Given the description of an element on the screen output the (x, y) to click on. 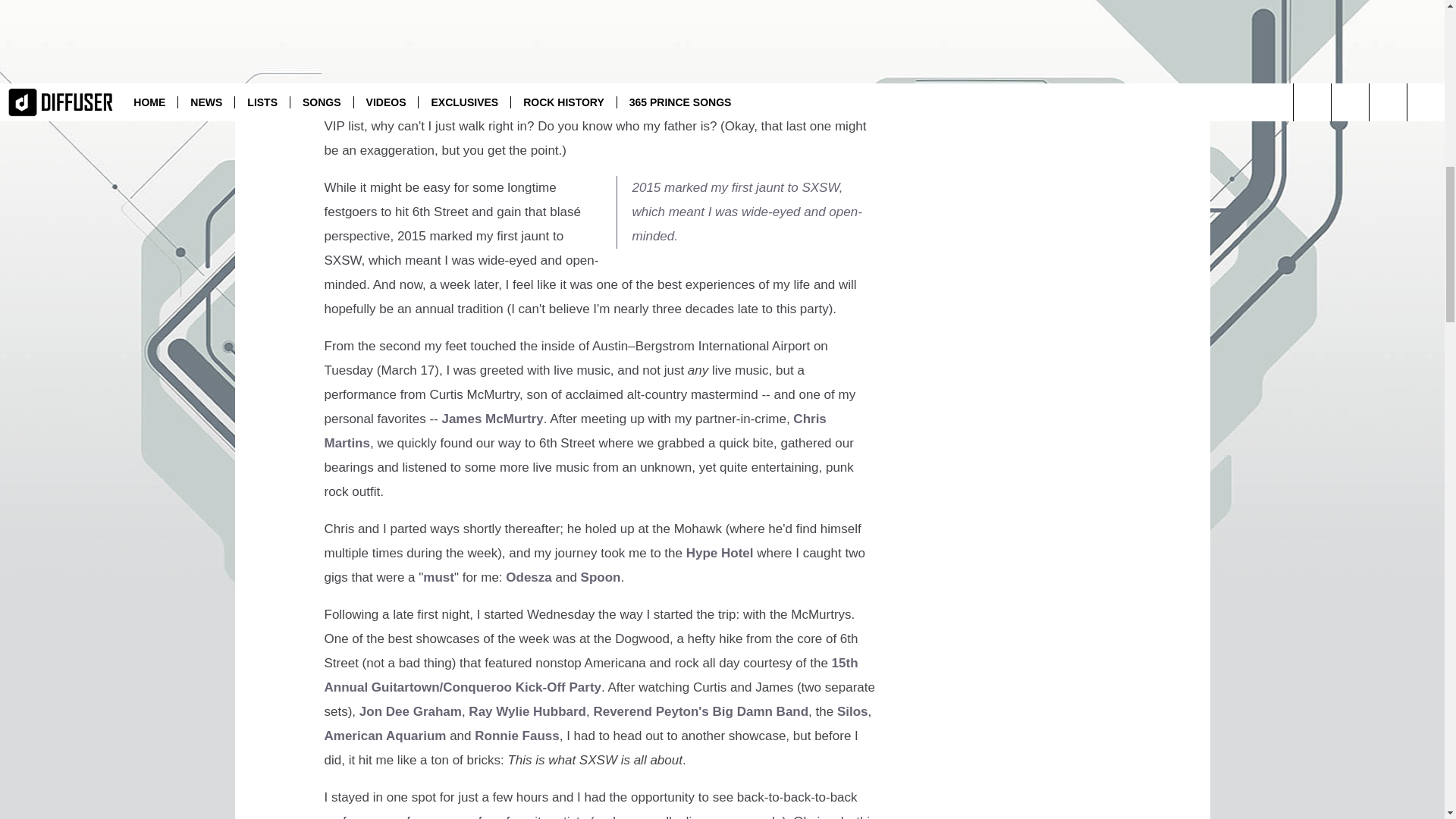
Ronnie Fauss (516, 735)
Ray Wylie Hubbard (527, 711)
James McMurtry (492, 418)
must (438, 577)
Silos (852, 711)
Spoon (600, 577)
Jon Dee Graham (410, 711)
Reverend Peyton's Big Damn Band (700, 711)
Odesza (528, 577)
American Aquarium (385, 735)
